Given the description of an element on the screen output the (x, y) to click on. 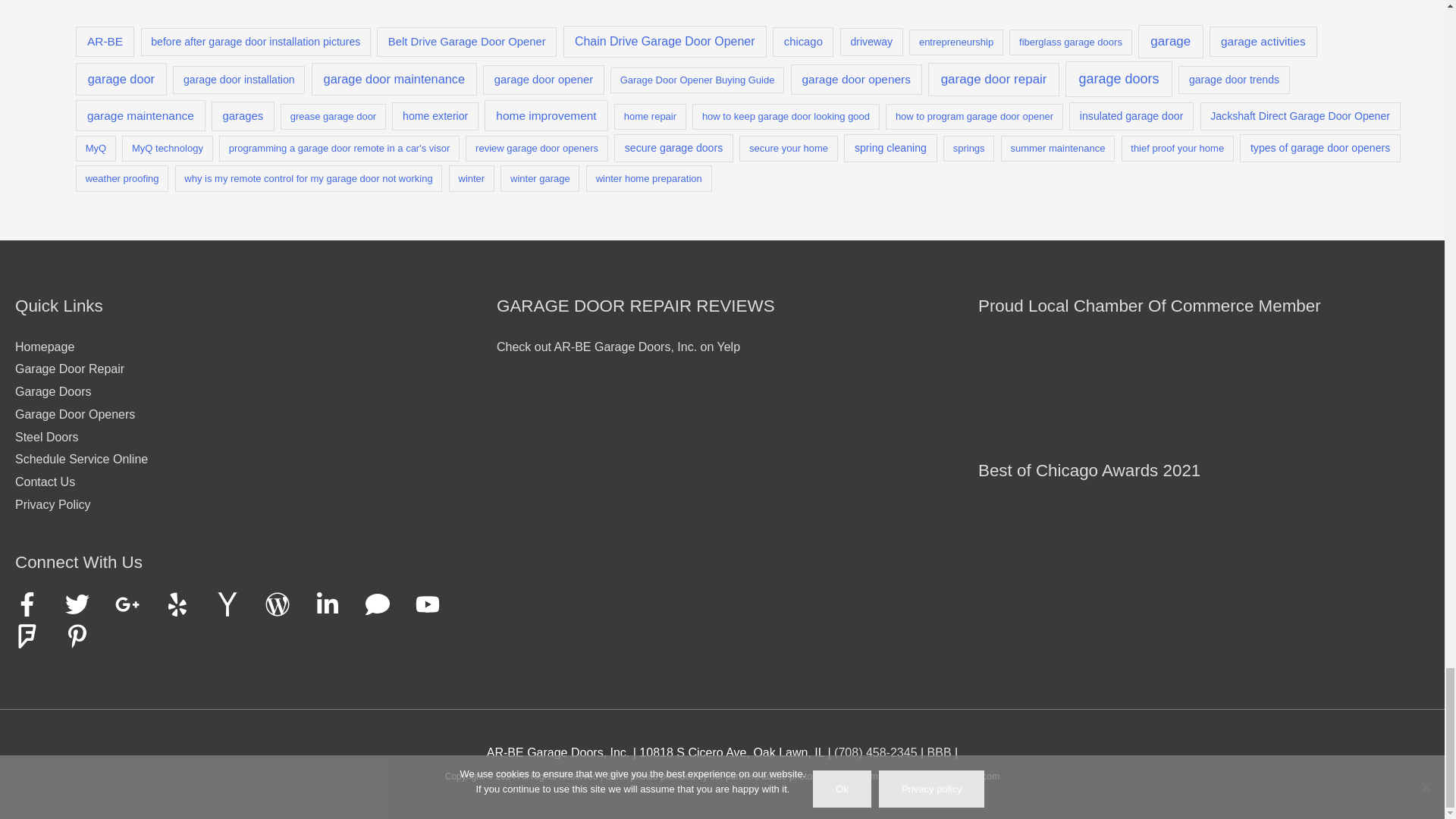
ARBE Garage Doors, Inc., Overhead Garage Doors, Oak Lawn, IL (939, 752)
Read AR-BE Garage Door Reviews On Google (571, 436)
